Given the description of an element on the screen output the (x, y) to click on. 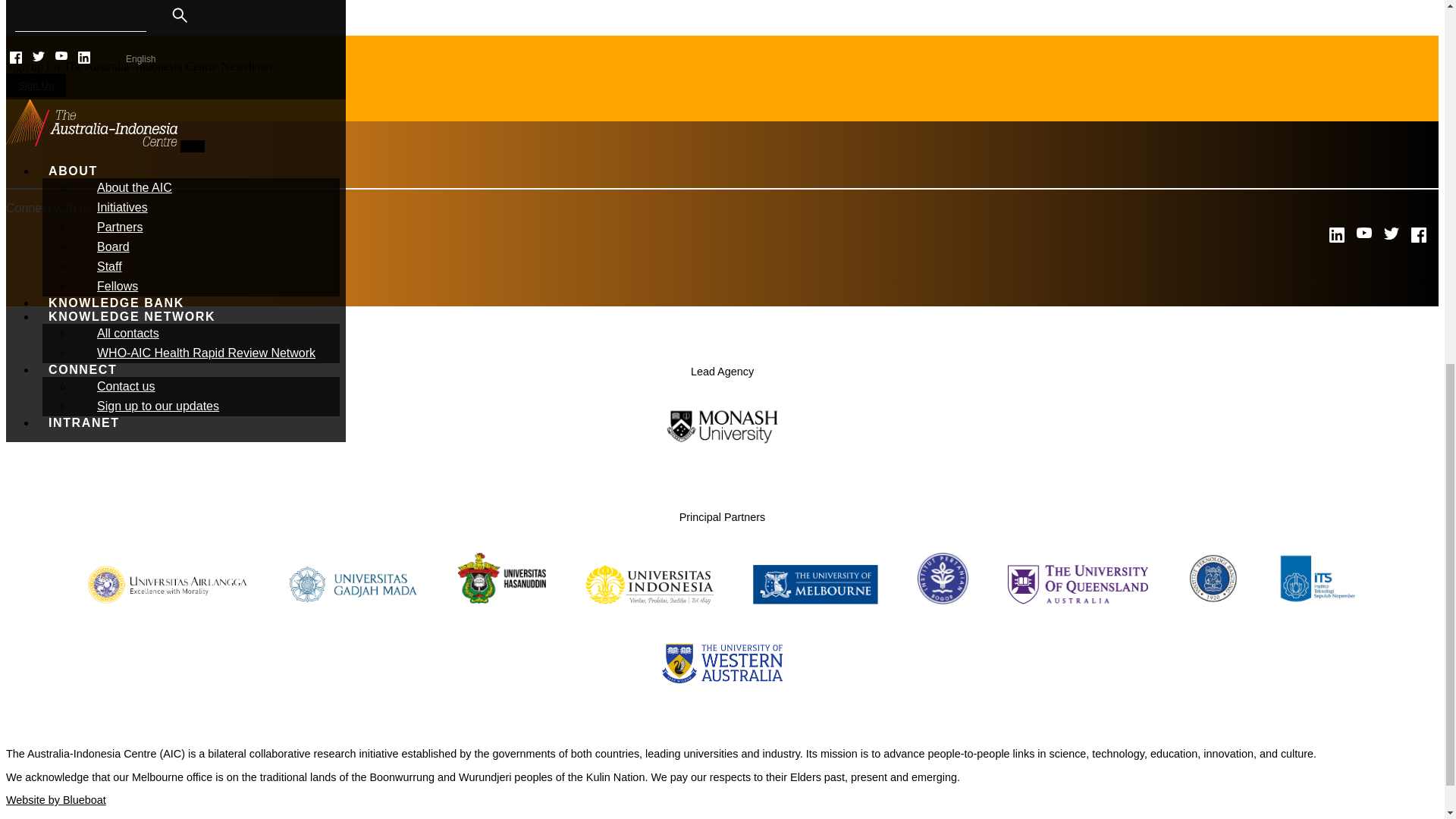
Sign Up (35, 84)
Sign Up (35, 85)
Website by Blueboat (55, 799)
